Given the description of an element on the screen output the (x, y) to click on. 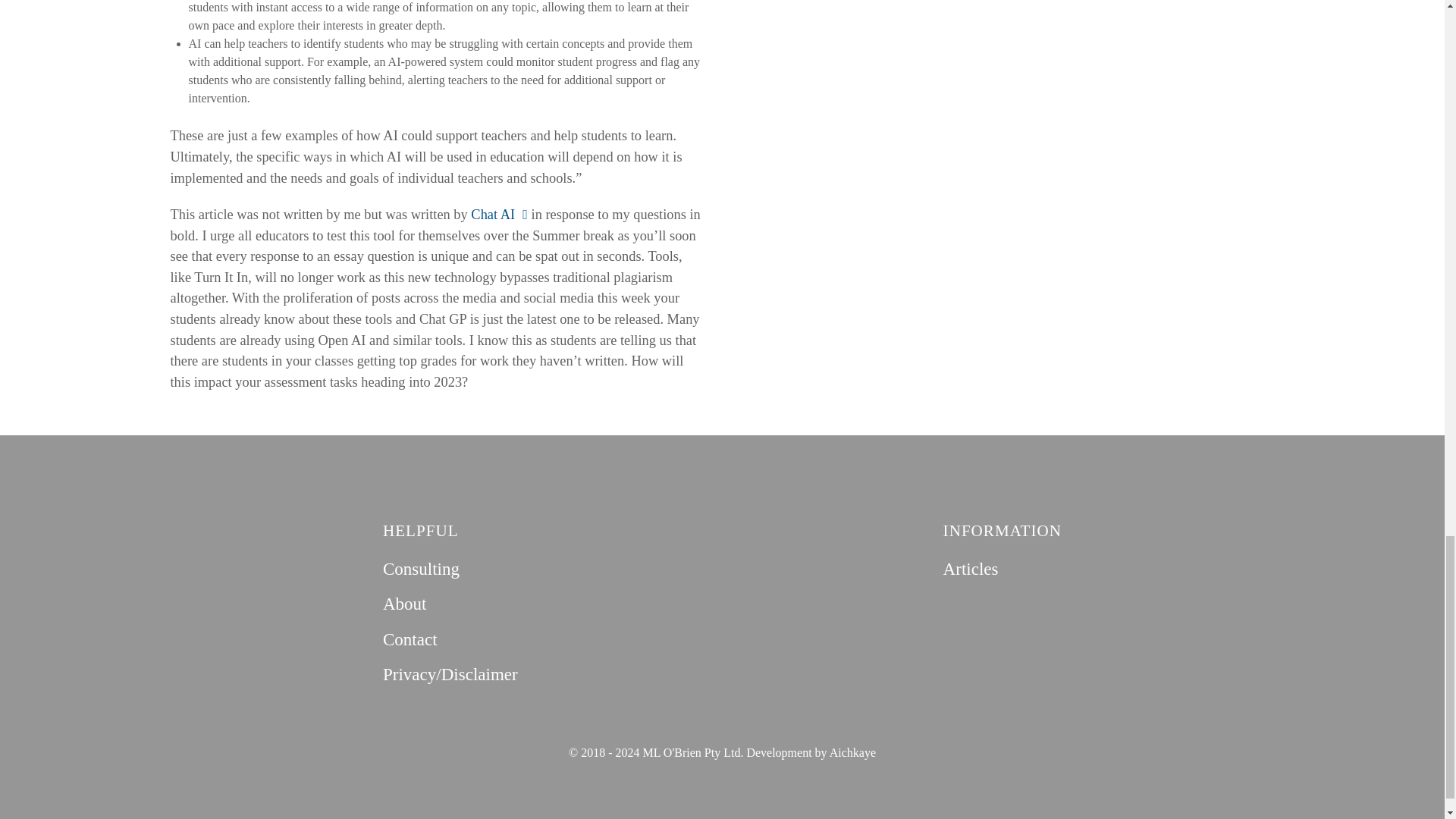
Development by Aichkaye (810, 752)
About (404, 603)
Articles (970, 568)
Aichkaye (810, 752)
Consulting (421, 568)
Consulting (421, 568)
Chat AI (498, 214)
Contact (410, 639)
Contact (410, 639)
Articles (970, 568)
About (404, 603)
